Given the description of an element on the screen output the (x, y) to click on. 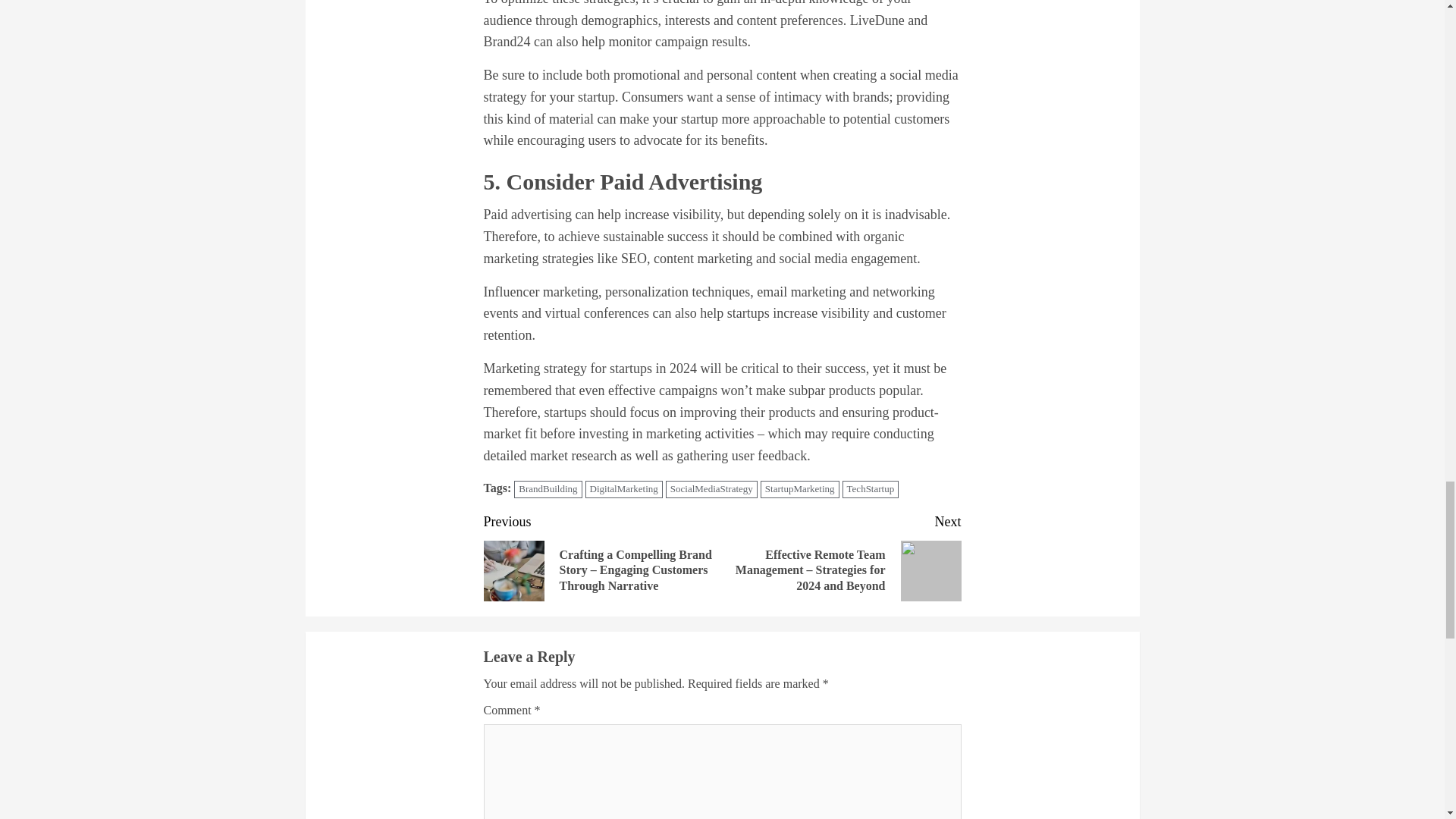
DigitalMarketing (623, 488)
StartupMarketing (800, 488)
BrandBuilding (546, 488)
TechStartup (871, 488)
SocialMediaStrategy (711, 488)
